Given the description of an element on the screen output the (x, y) to click on. 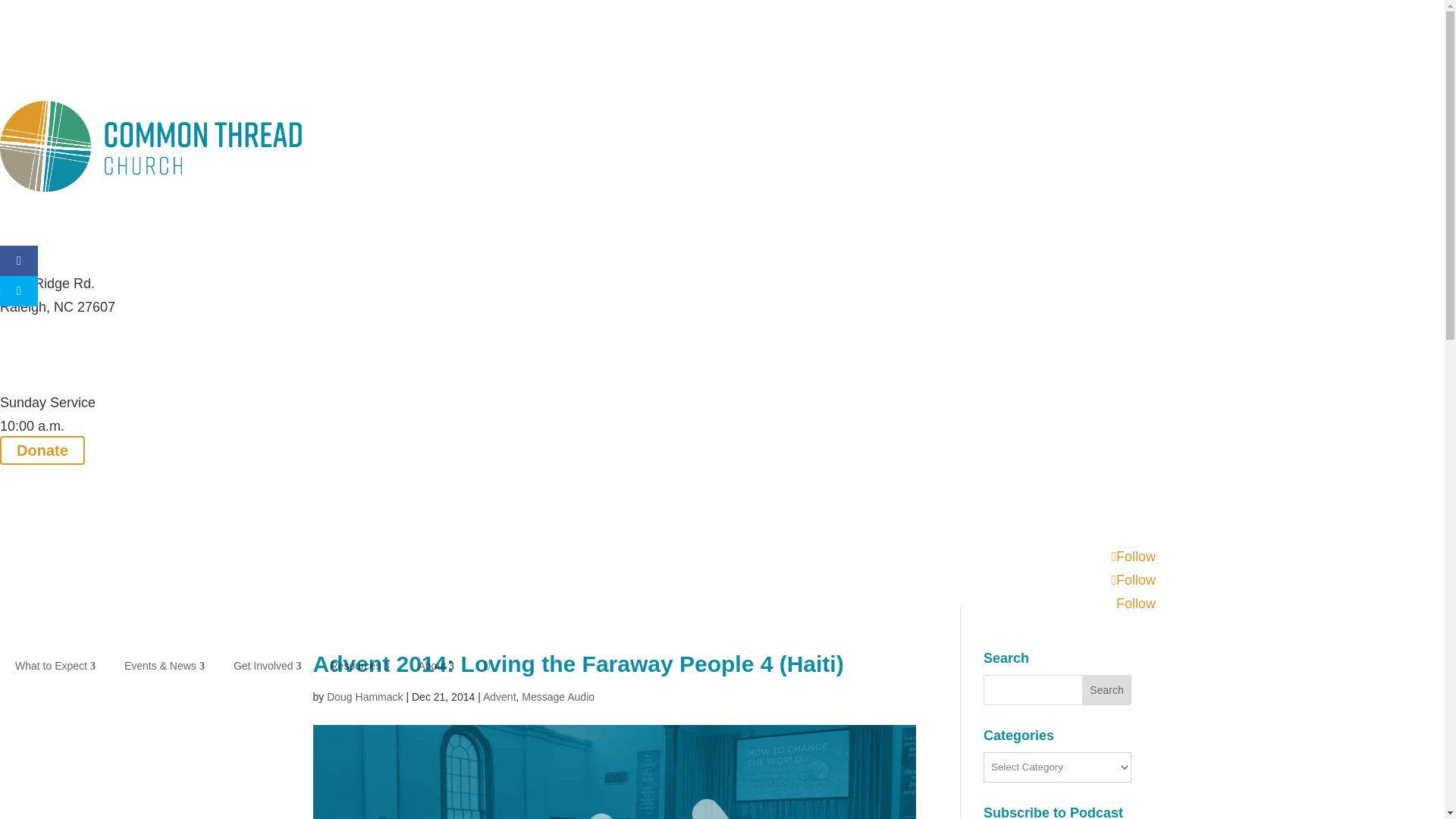
Donate (42, 450)
Follow on Facebook (1133, 556)
Posts by Doug Hammack (364, 696)
Search (1106, 689)
Follow on Youtube (1136, 603)
Follow on Instagram (1133, 580)
